Given the description of an element on the screen output the (x, y) to click on. 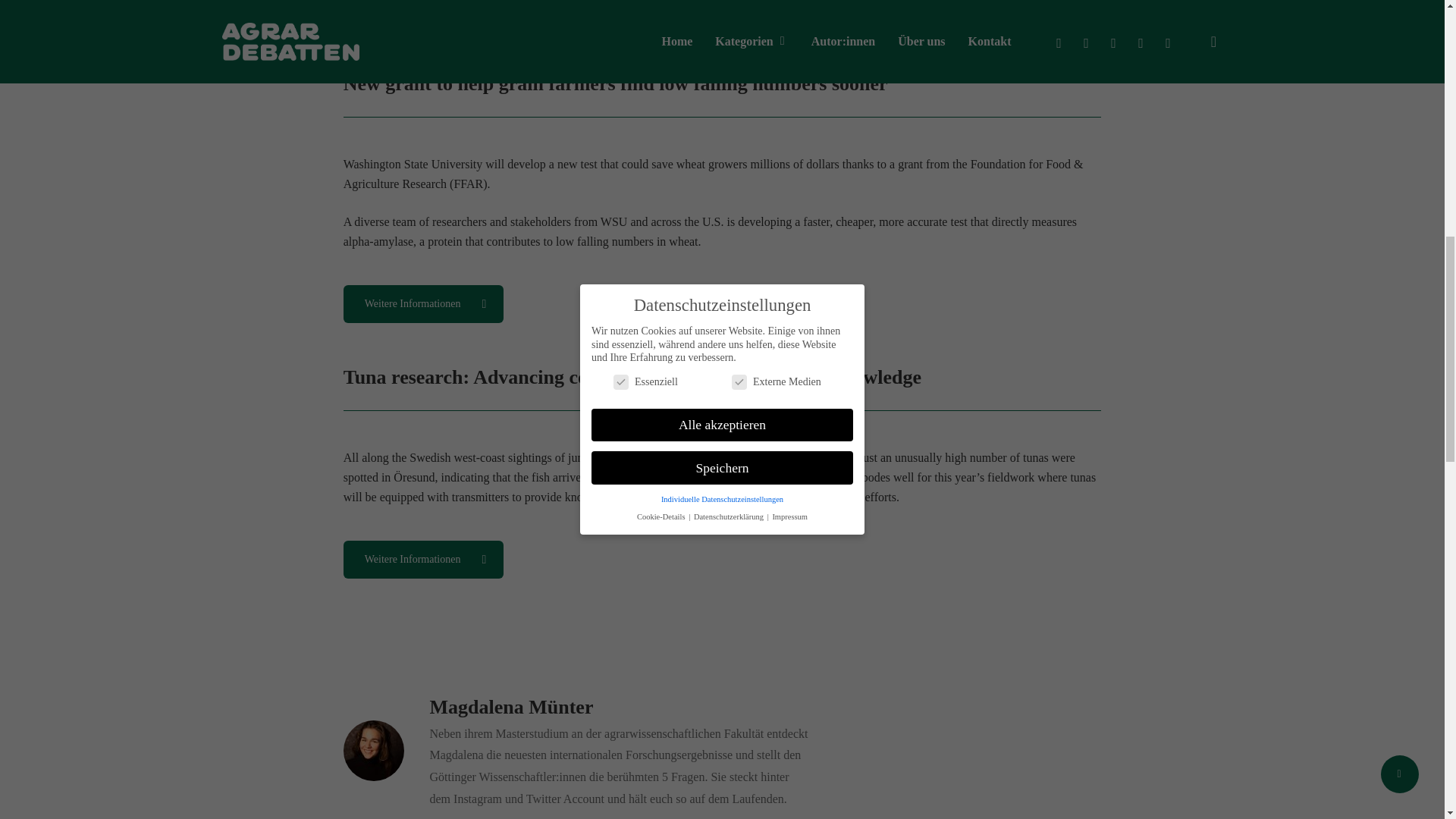
Weitere Informationen (423, 559)
Weitere Informationen (423, 14)
Weitere Informationen (423, 303)
